Given the description of an element on the screen output the (x, y) to click on. 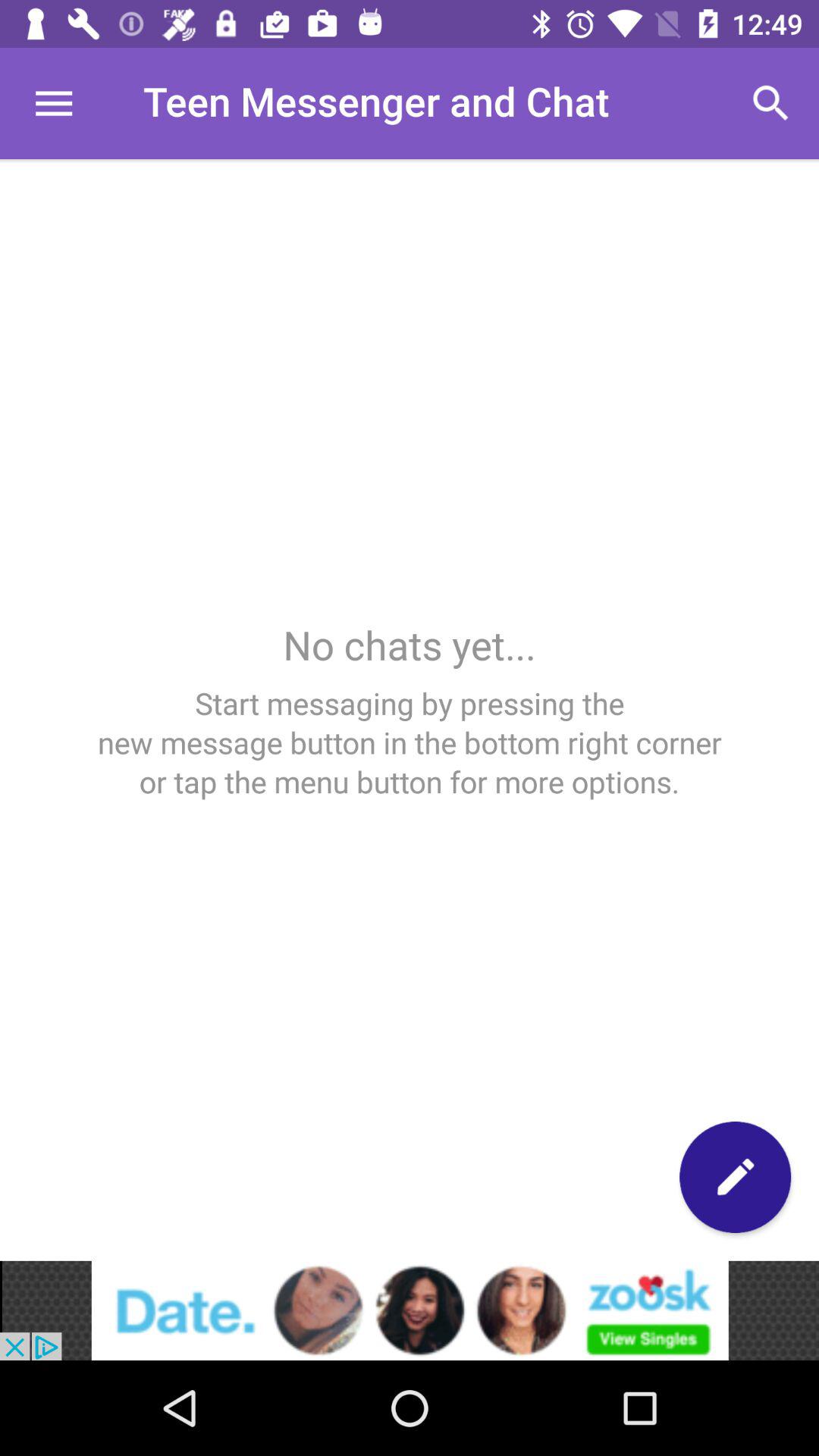
go to advertisement (409, 1310)
